Given the description of an element on the screen output the (x, y) to click on. 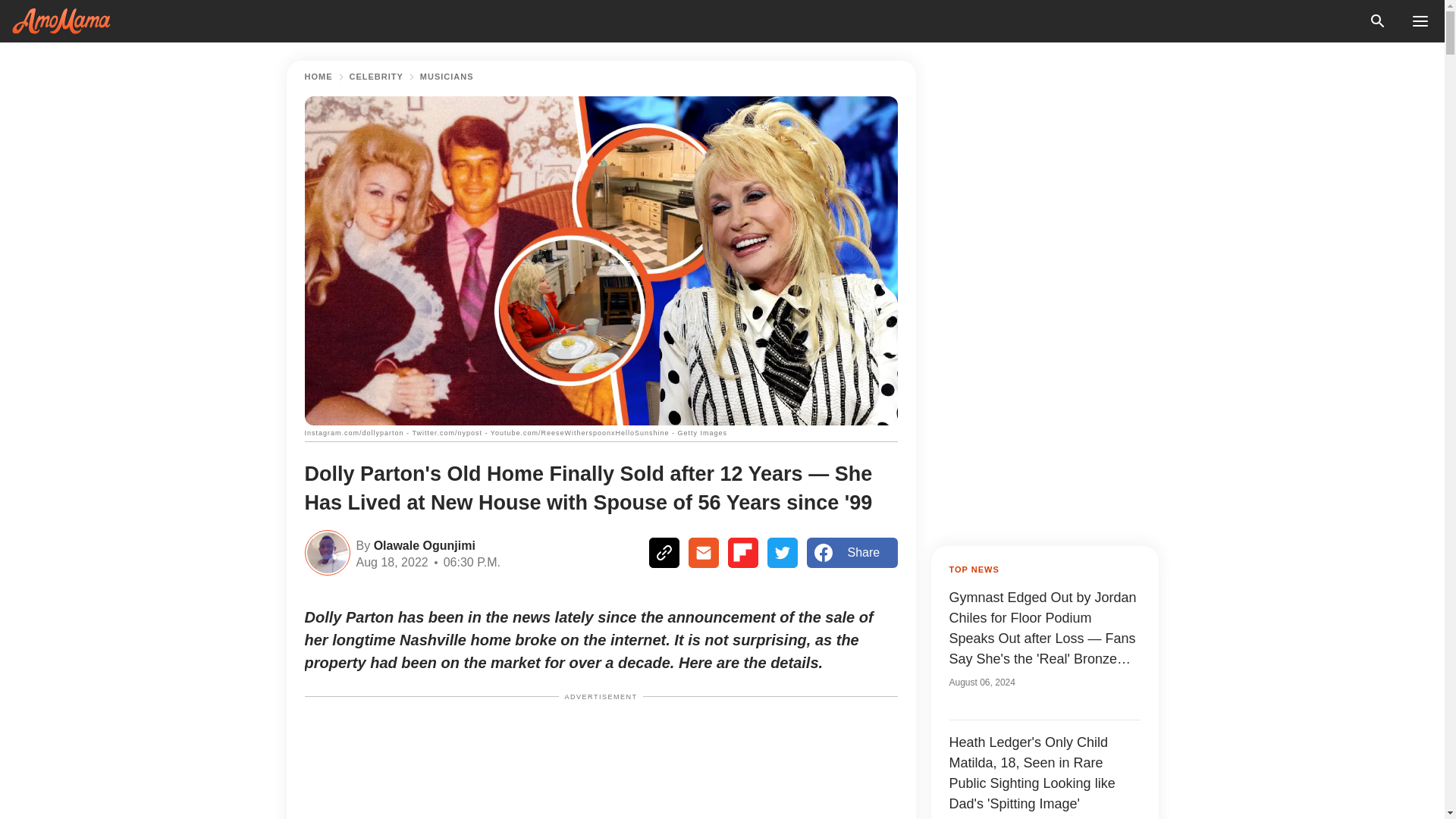
Olawale Ogunjimi (422, 544)
CELEBRITY (376, 76)
HOME (318, 76)
MUSICIANS (447, 76)
